Given the description of an element on the screen output the (x, y) to click on. 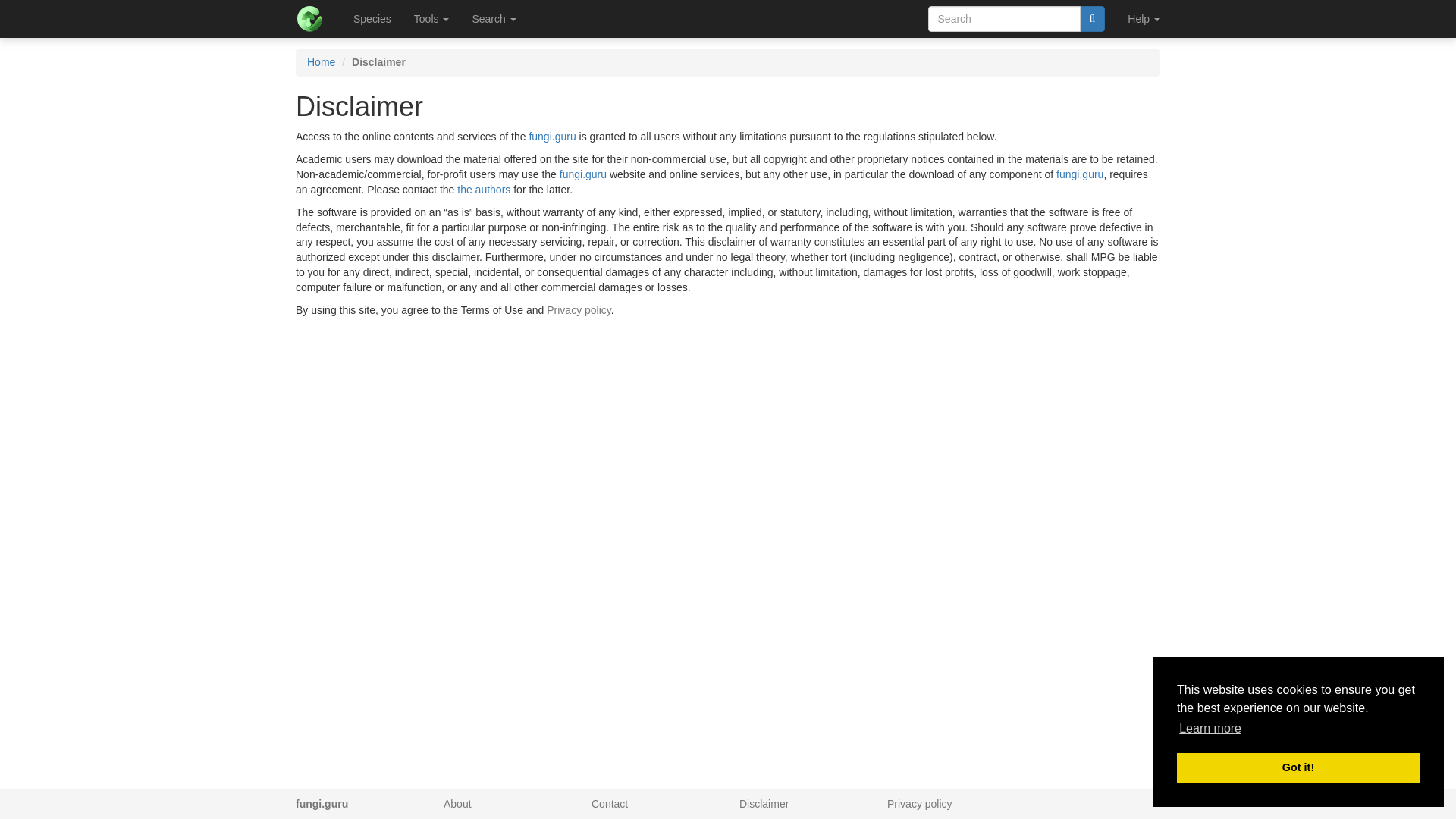
fungi.guru (1080, 174)
Species (372, 18)
Search (1092, 18)
fungi.guru (583, 174)
Search (493, 18)
Tools (432, 18)
Help (1144, 18)
Home (320, 61)
Privacy policy (579, 309)
the authors (484, 189)
fungi.guru (551, 136)
